Given the description of an element on the screen output the (x, y) to click on. 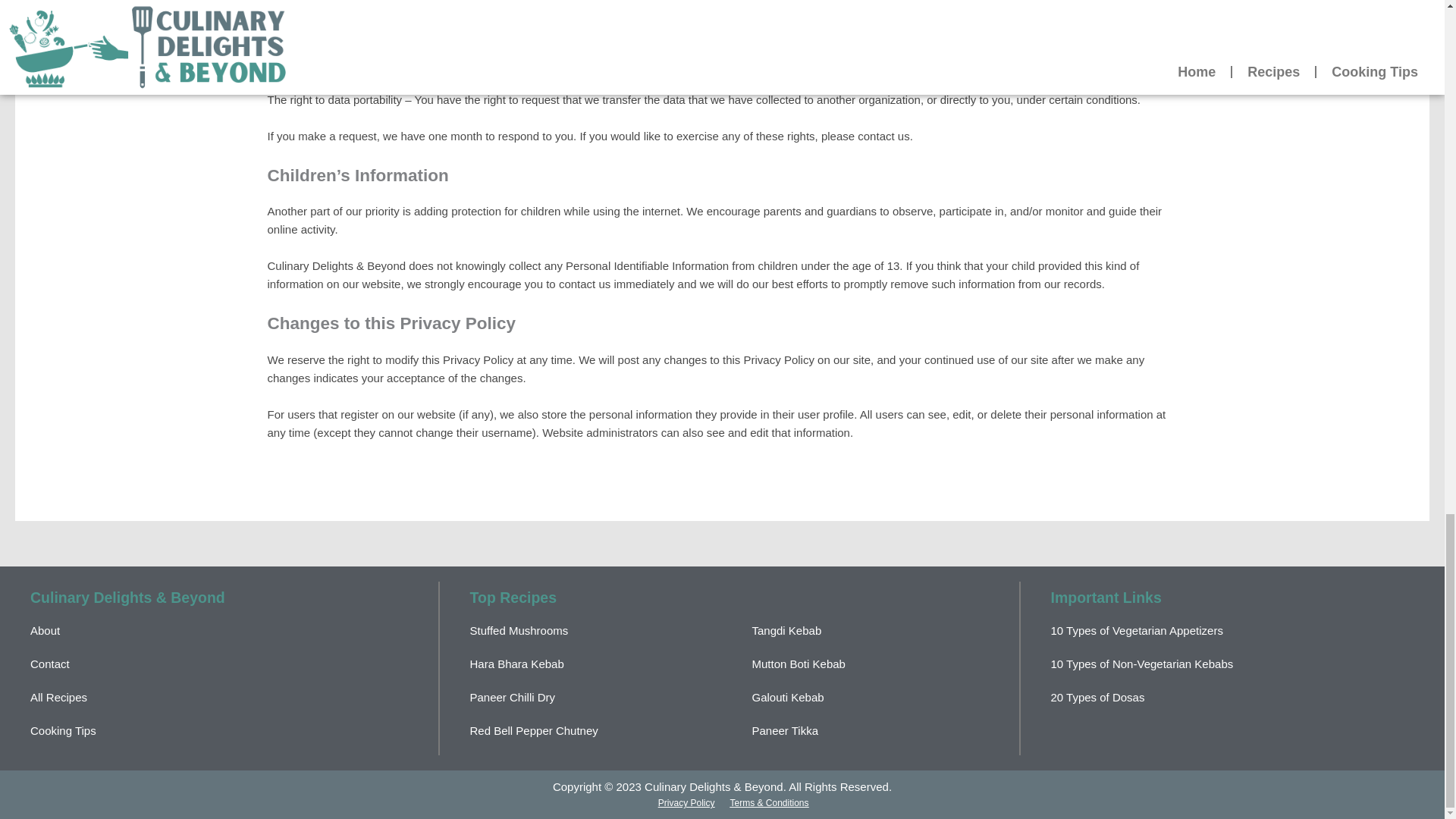
Stuffed Mushrooms (519, 630)
Galouti Kebab (788, 697)
Tangdi Kebab (787, 630)
Cooking Tips (63, 730)
Mutton Boti Kebab (798, 663)
20 Types of Dosas (1097, 697)
Contact (49, 663)
Privacy Policy (686, 802)
All Recipes (58, 697)
10 Types of Non-Vegetarian Kebabs (1142, 663)
